Given the description of an element on the screen output the (x, y) to click on. 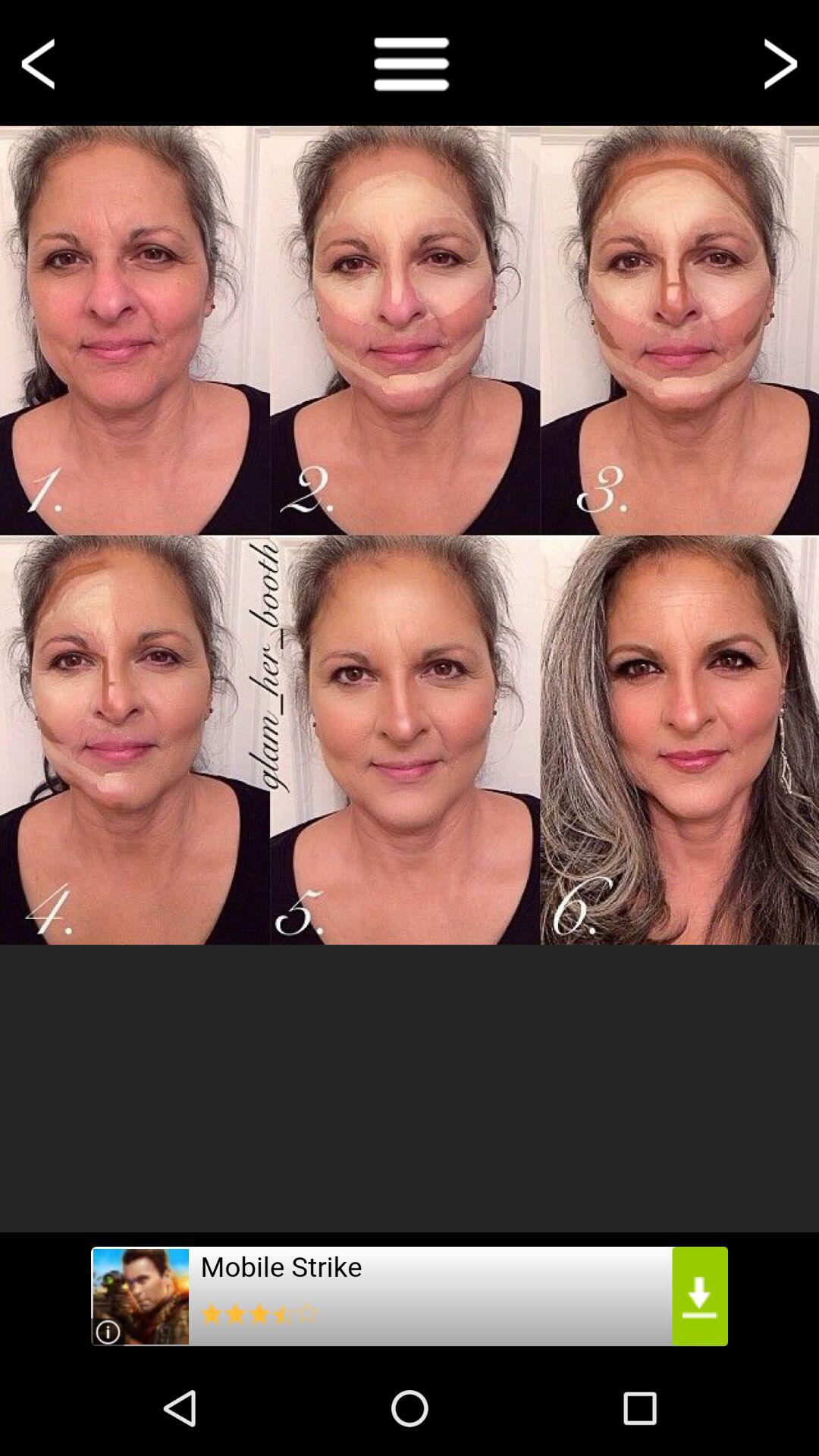
go foward (778, 62)
